Given the description of an element on the screen output the (x, y) to click on. 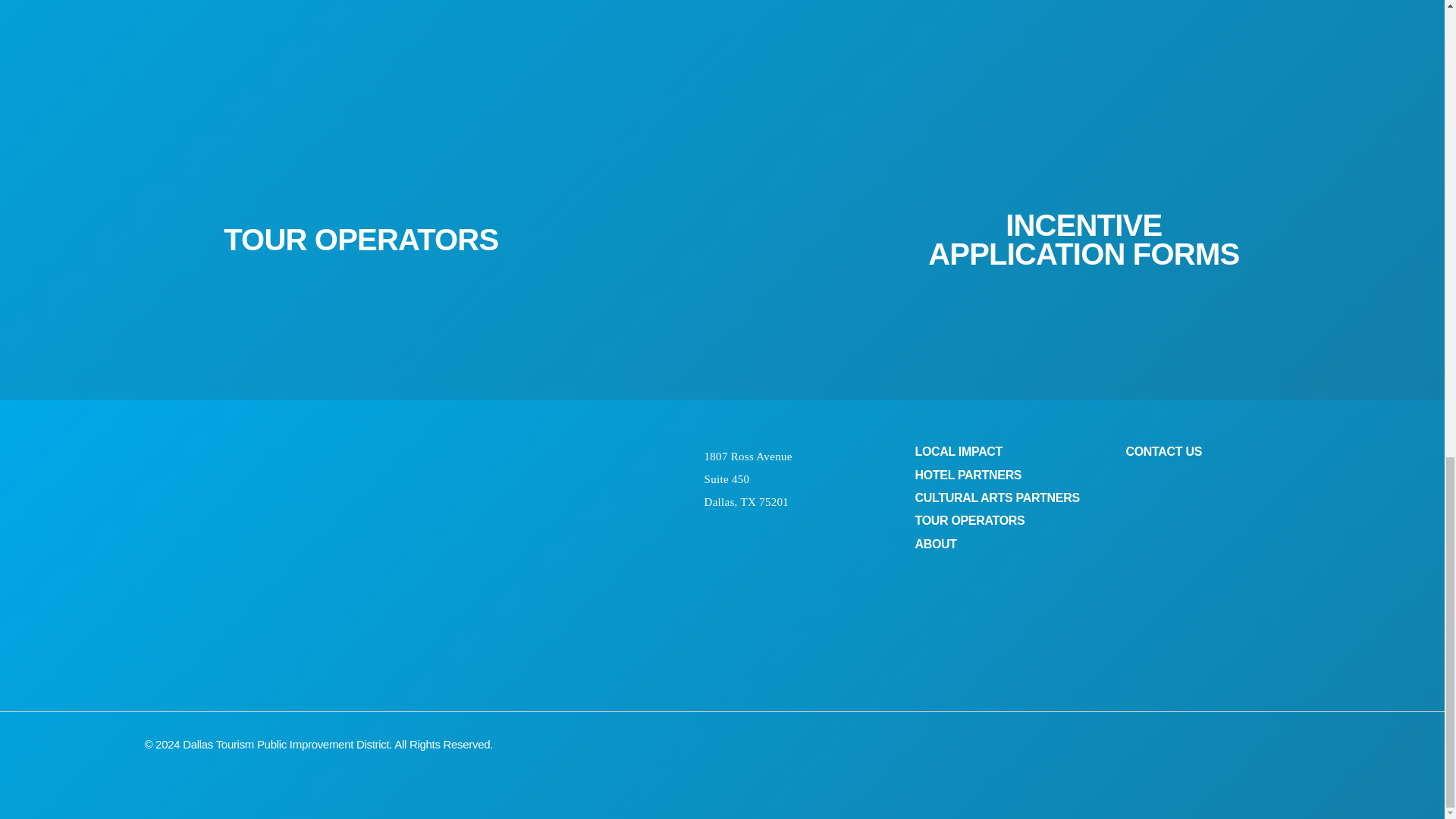
TOUR OPERATORS (969, 520)
CULTURAL ARTS PARTNERS (996, 497)
CONTACT US (1163, 451)
ABOUT (935, 543)
LOCAL IMPACT (958, 451)
FORWARD-THINKING. FISCALLY STRONG. (361, 39)
HOTEL PARTNERS (968, 474)
